Given the description of an element on the screen output the (x, y) to click on. 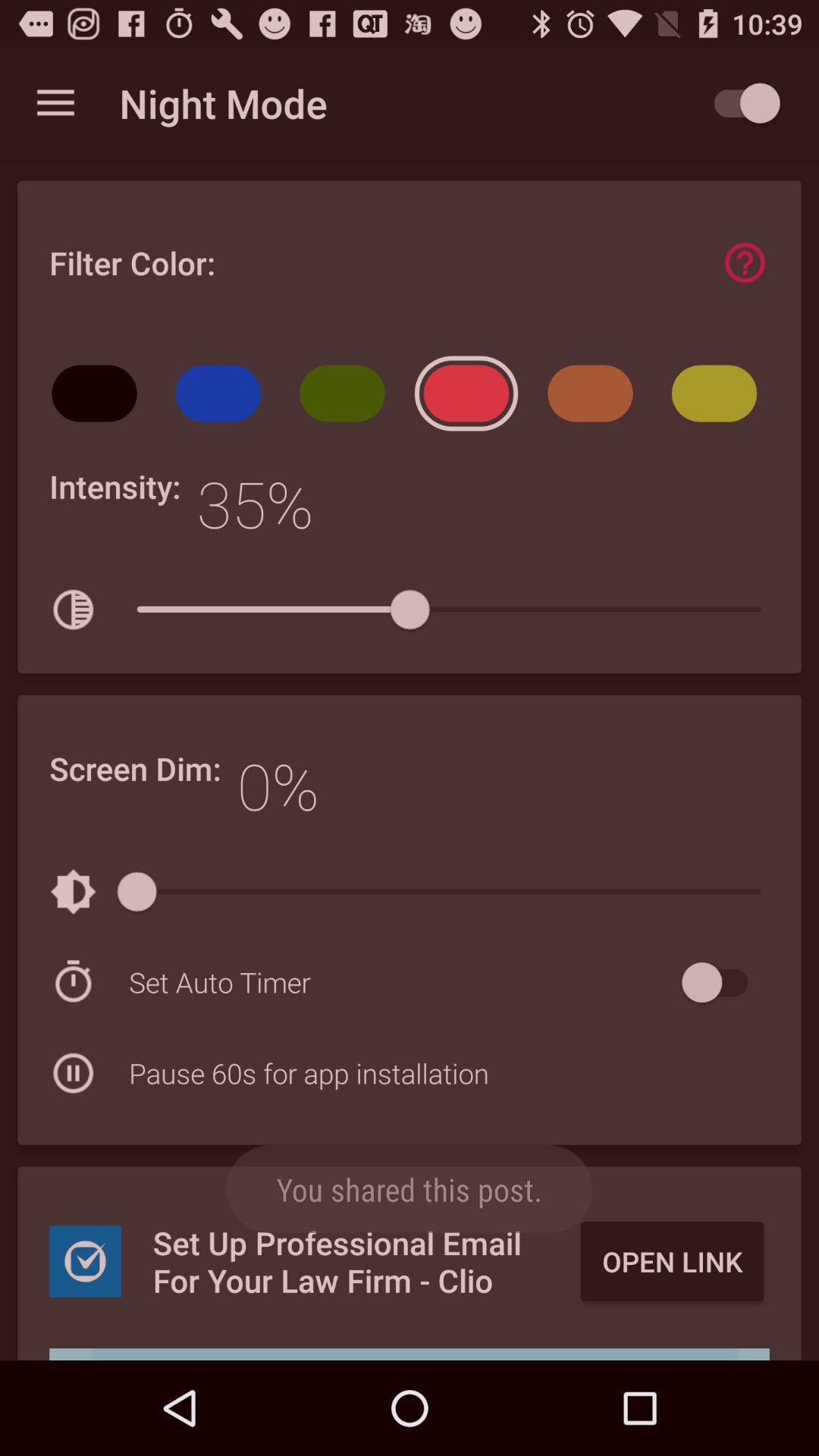
scroll over (409, 1354)
